Given the description of an element on the screen output the (x, y) to click on. 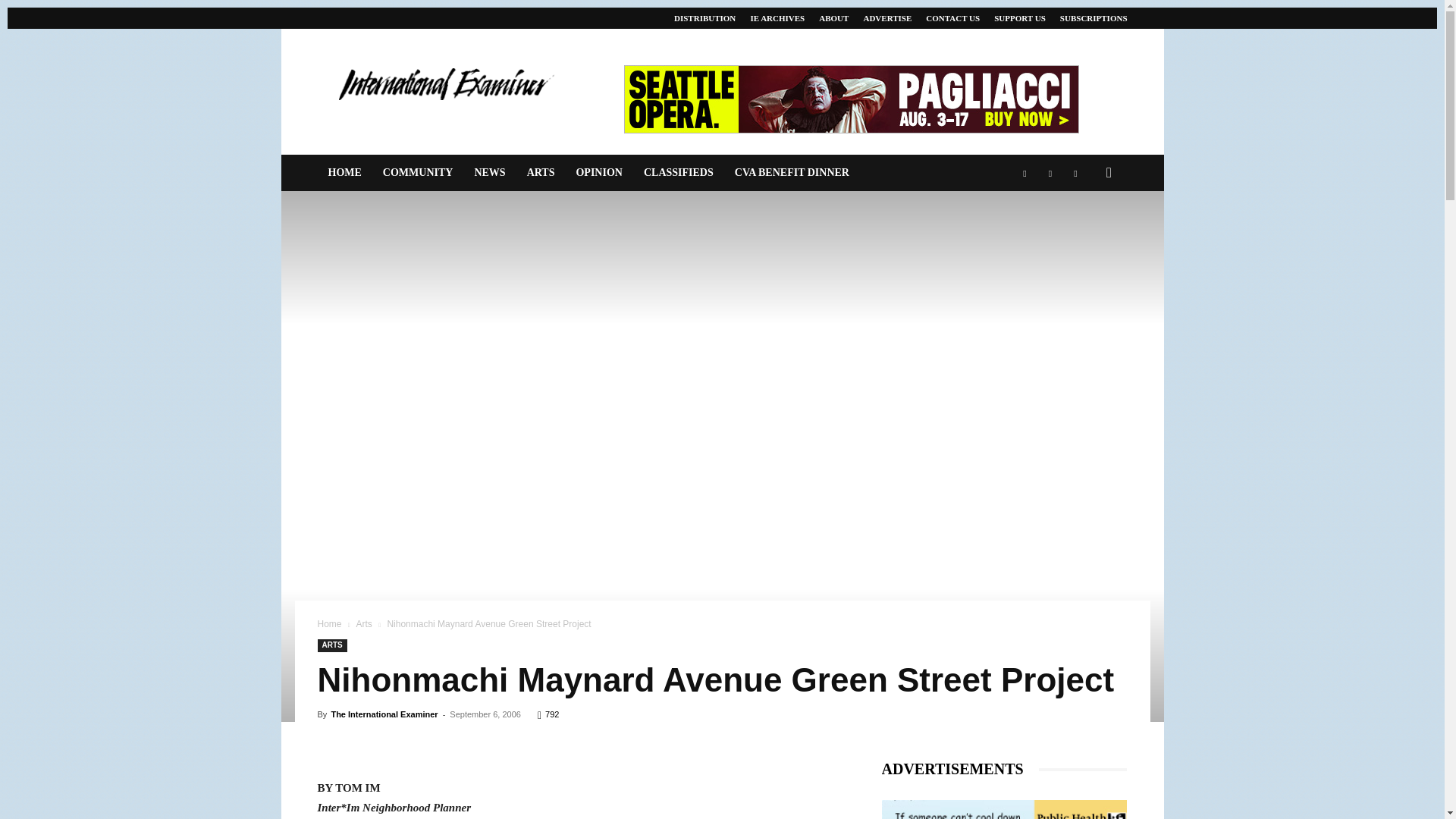
Instagram (1050, 172)
View all posts in Arts (363, 624)
SUPPORT US (1019, 17)
CVA BENEFIT DINNER (791, 172)
DISTRIBUTION (704, 17)
ADVERTISE (887, 17)
ABOUT (833, 17)
Search (1085, 233)
Arts (363, 624)
IE ARCHIVES (777, 17)
HOME (344, 172)
OPINION (597, 172)
Pagliacci (850, 99)
